Given the description of an element on the screen output the (x, y) to click on. 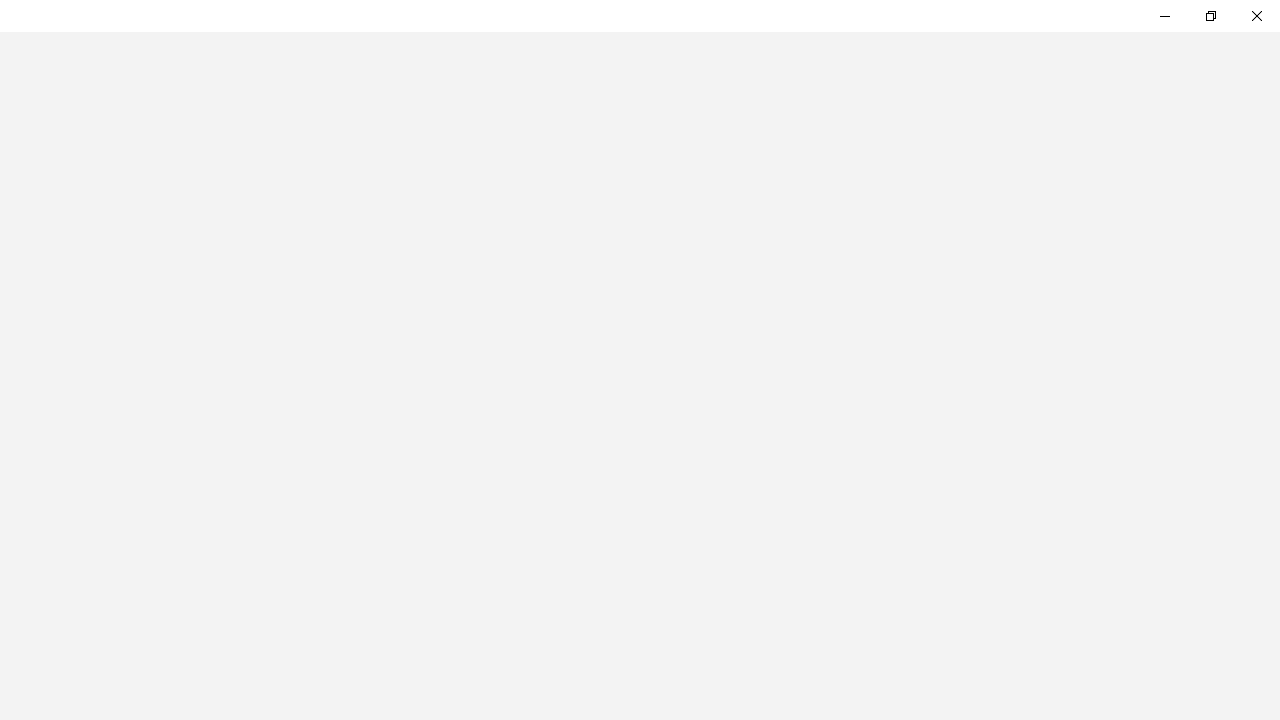
Close Feedback Hub (1256, 15)
Vertical Small Decrease (1272, 86)
Minimize Feedback Hub (1164, 15)
Restore Feedback Hub (1210, 15)
